Given the description of an element on the screen output the (x, y) to click on. 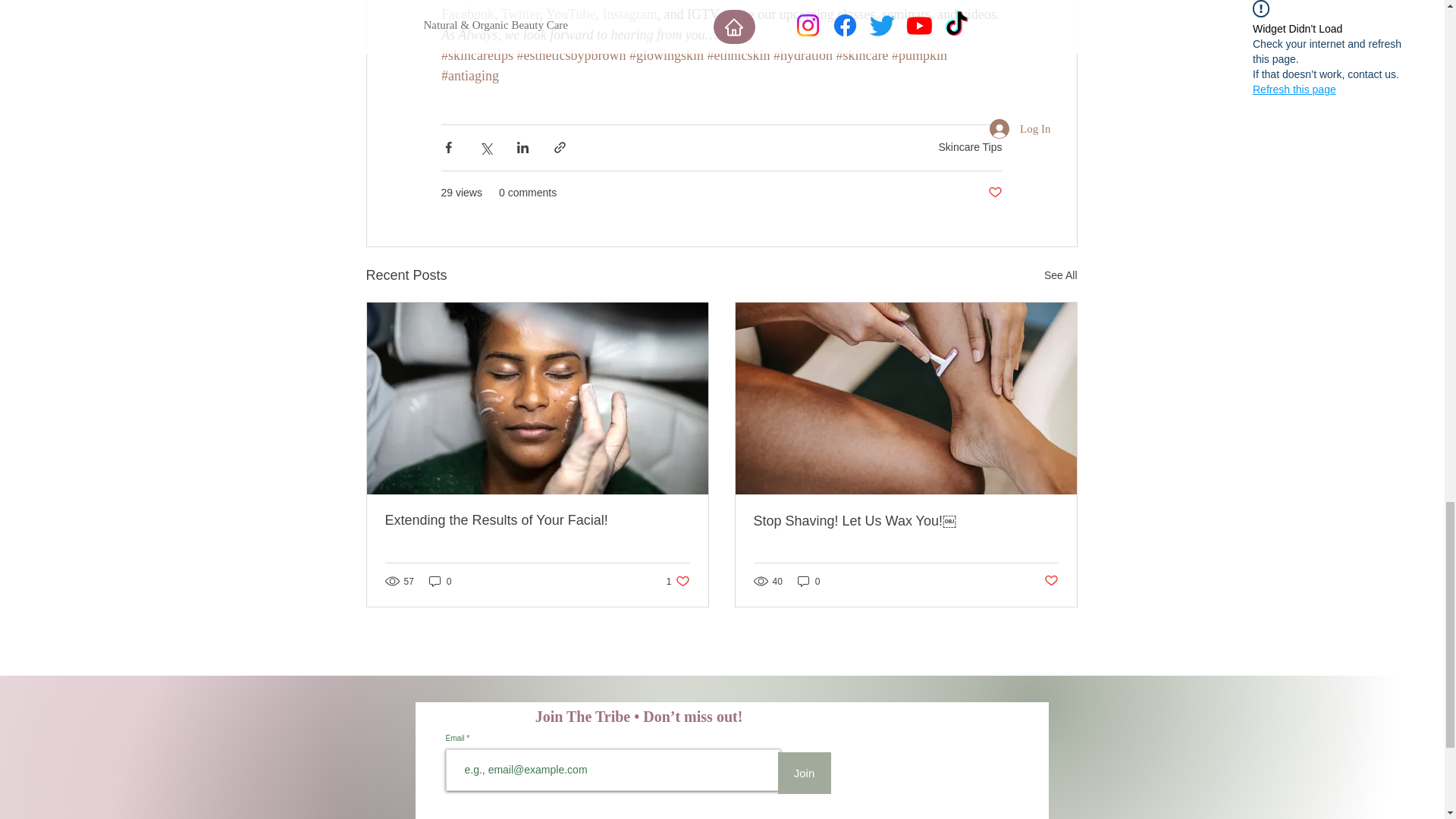
Twitter (519, 14)
Skincare Tips (969, 146)
Post not marked as liked (994, 192)
Instagram (629, 14)
YouTube (570, 14)
Facebook (468, 14)
